Given the description of an element on the screen output the (x, y) to click on. 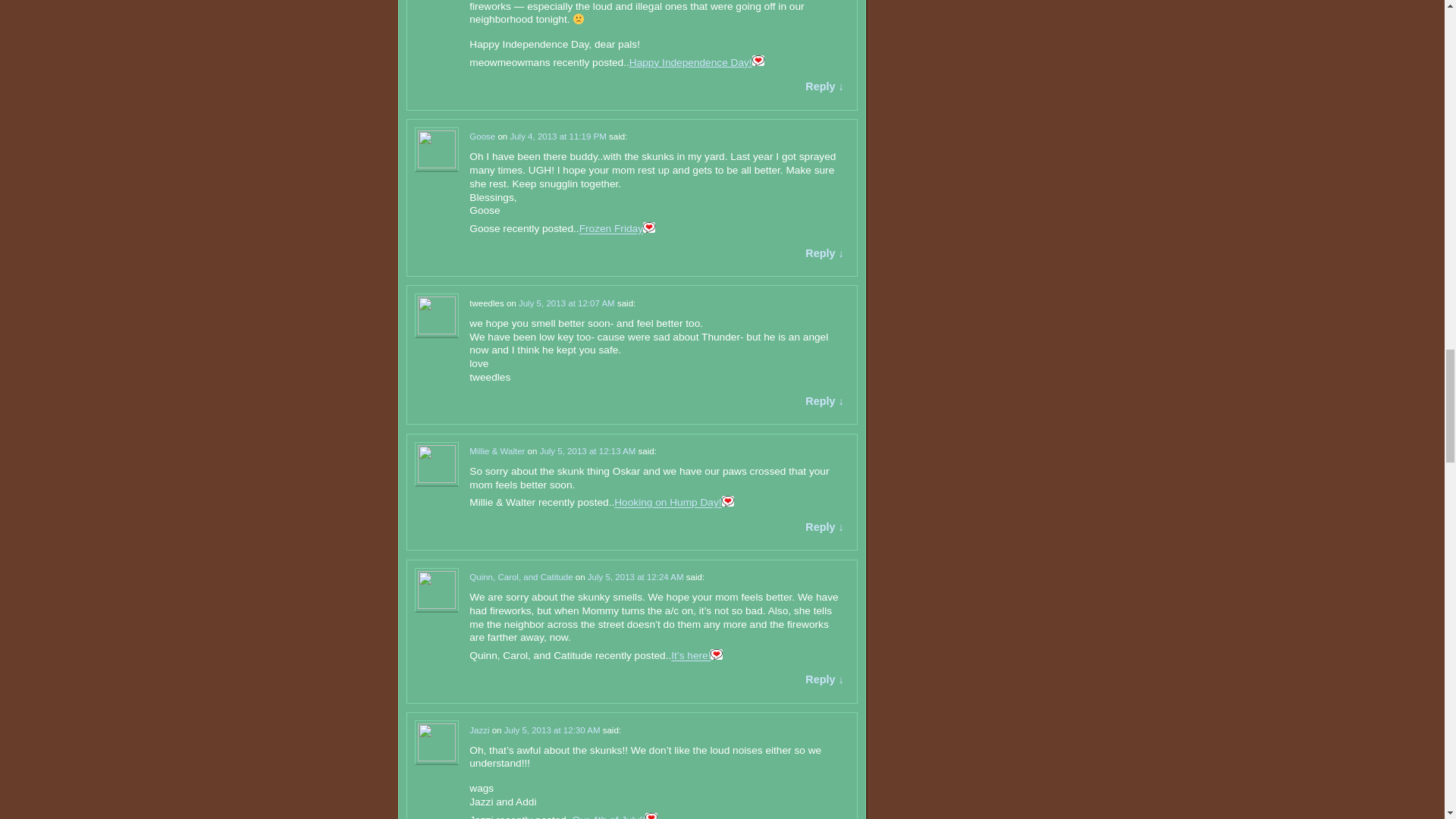
Quinn, Carol, and Catitude (520, 576)
July 4, 2013 at 11:19 PM (557, 135)
Goose (481, 135)
Happy Independence Day! (690, 61)
Hooking on Hump Day! (667, 502)
July 5, 2013 at 12:07 AM (566, 302)
Frozen Friday (611, 229)
July 5, 2013 at 12:13 AM (588, 450)
